Given the description of an element on the screen output the (x, y) to click on. 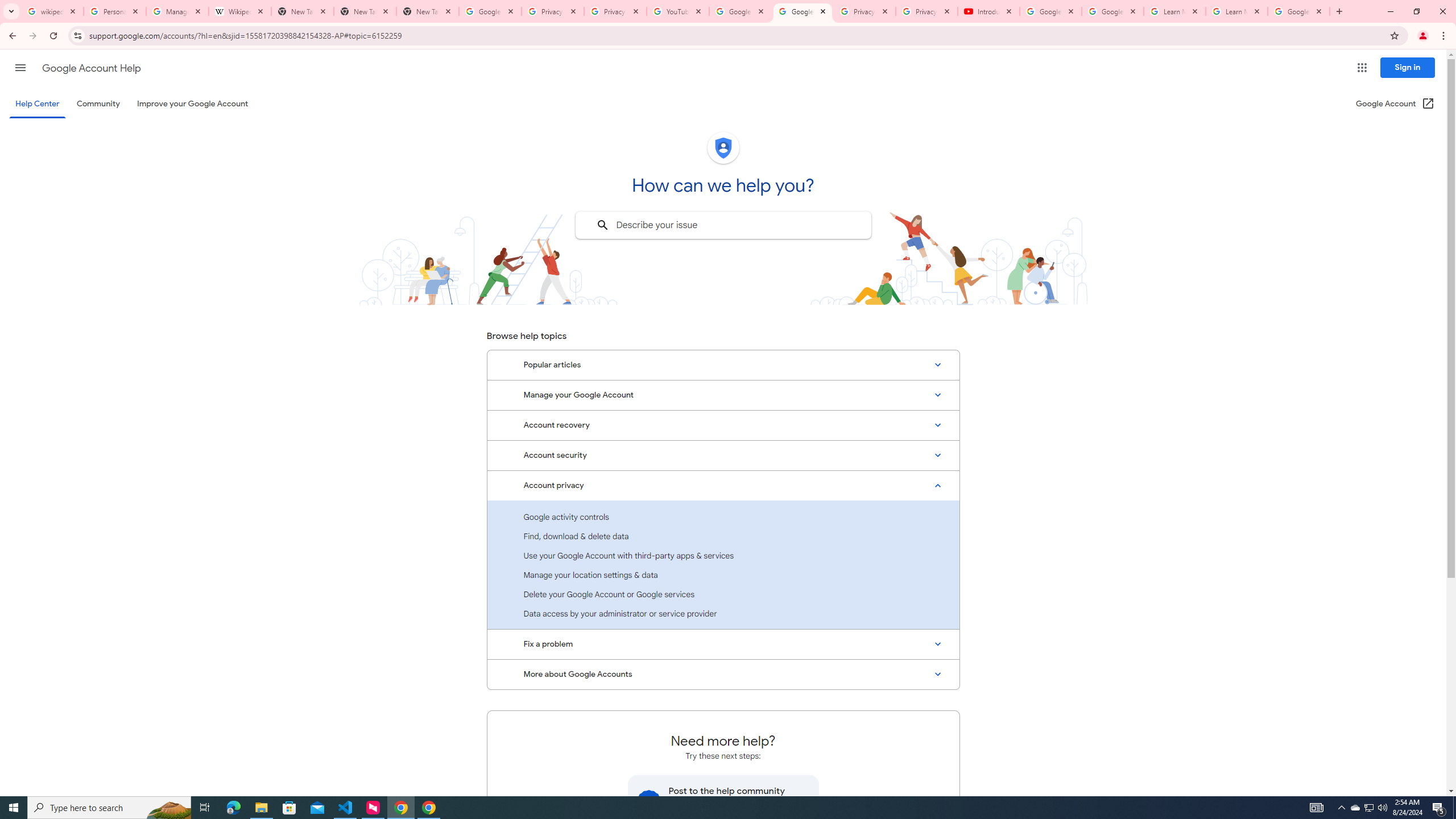
New Tab (365, 11)
Manage your location settings & data (722, 574)
Google Account (1298, 11)
Google Account (Open in a new window) (1395, 103)
Popular articles (722, 365)
Wikipedia:Edit requests - Wikipedia (239, 11)
New Tab (427, 11)
Account security (722, 455)
